Given the description of an element on the screen output the (x, y) to click on. 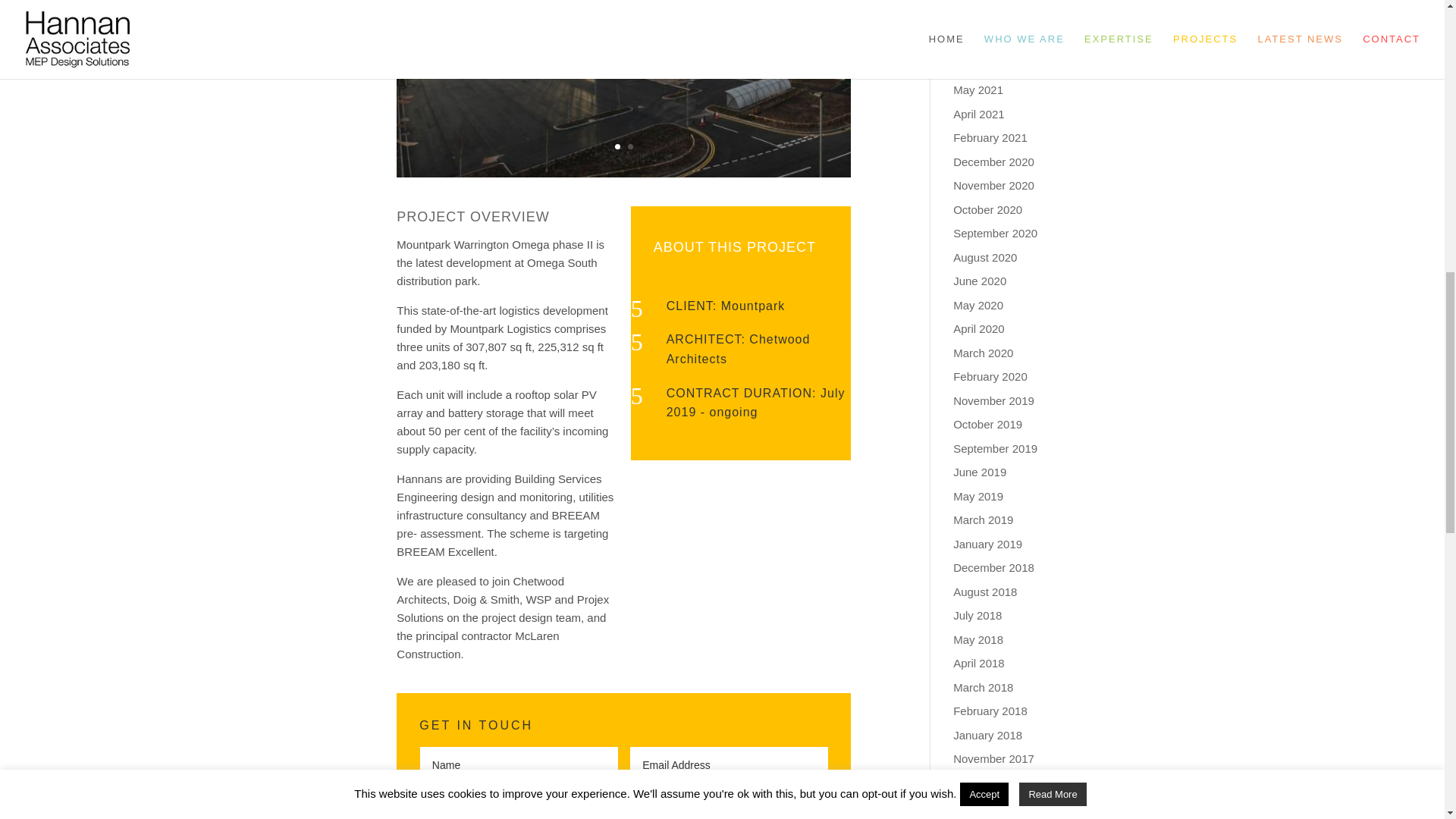
August 2022 (984, 0)
